Given the description of an element on the screen output the (x, y) to click on. 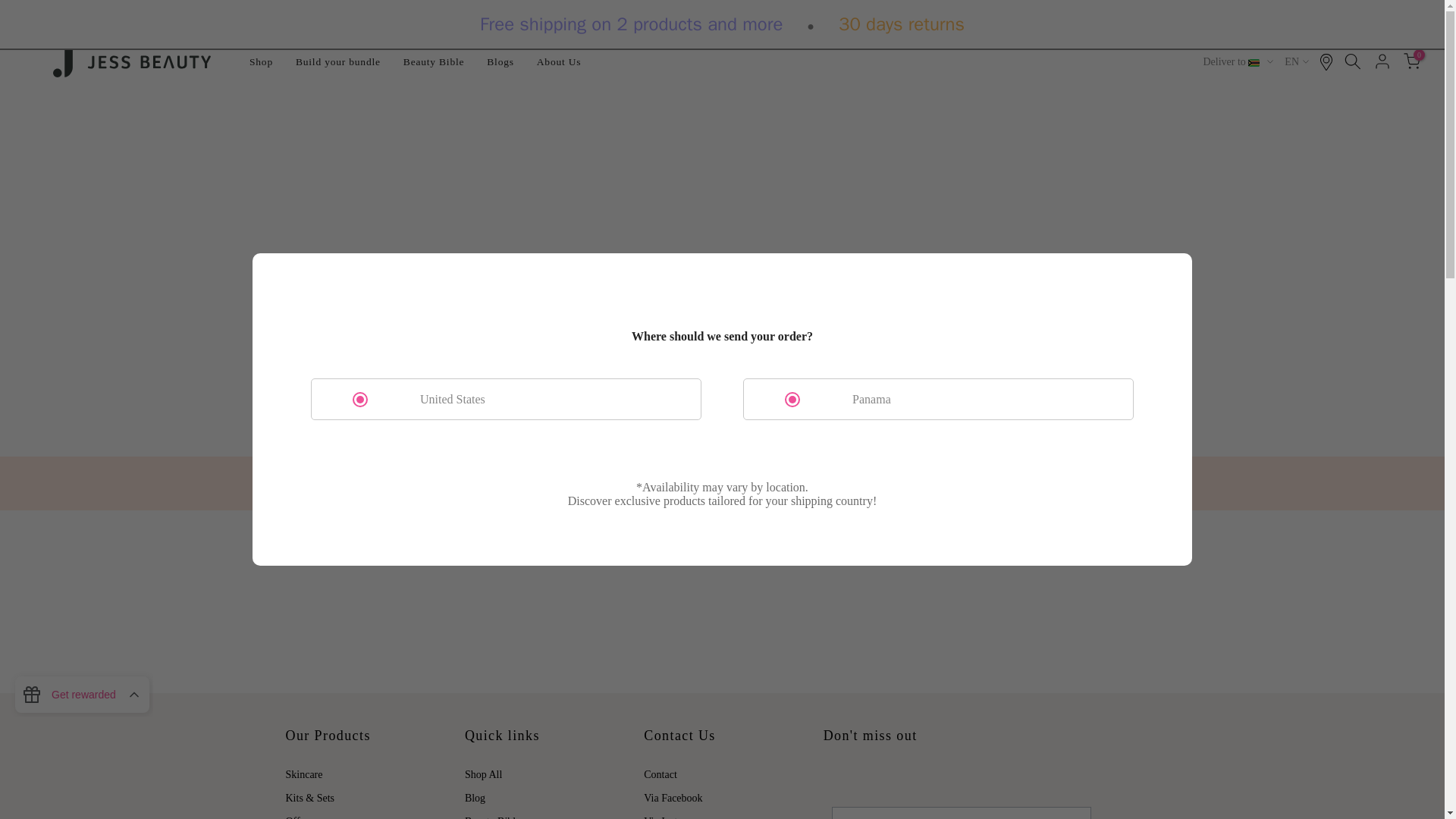
Beauty Bible (433, 61)
30 days returns (900, 24)
Blogs (500, 61)
Build your bundle (337, 61)
Shop (260, 61)
Skip to content (10, 7)
Free shipping on 2 products and more (631, 24)
